Given the description of an element on the screen output the (x, y) to click on. 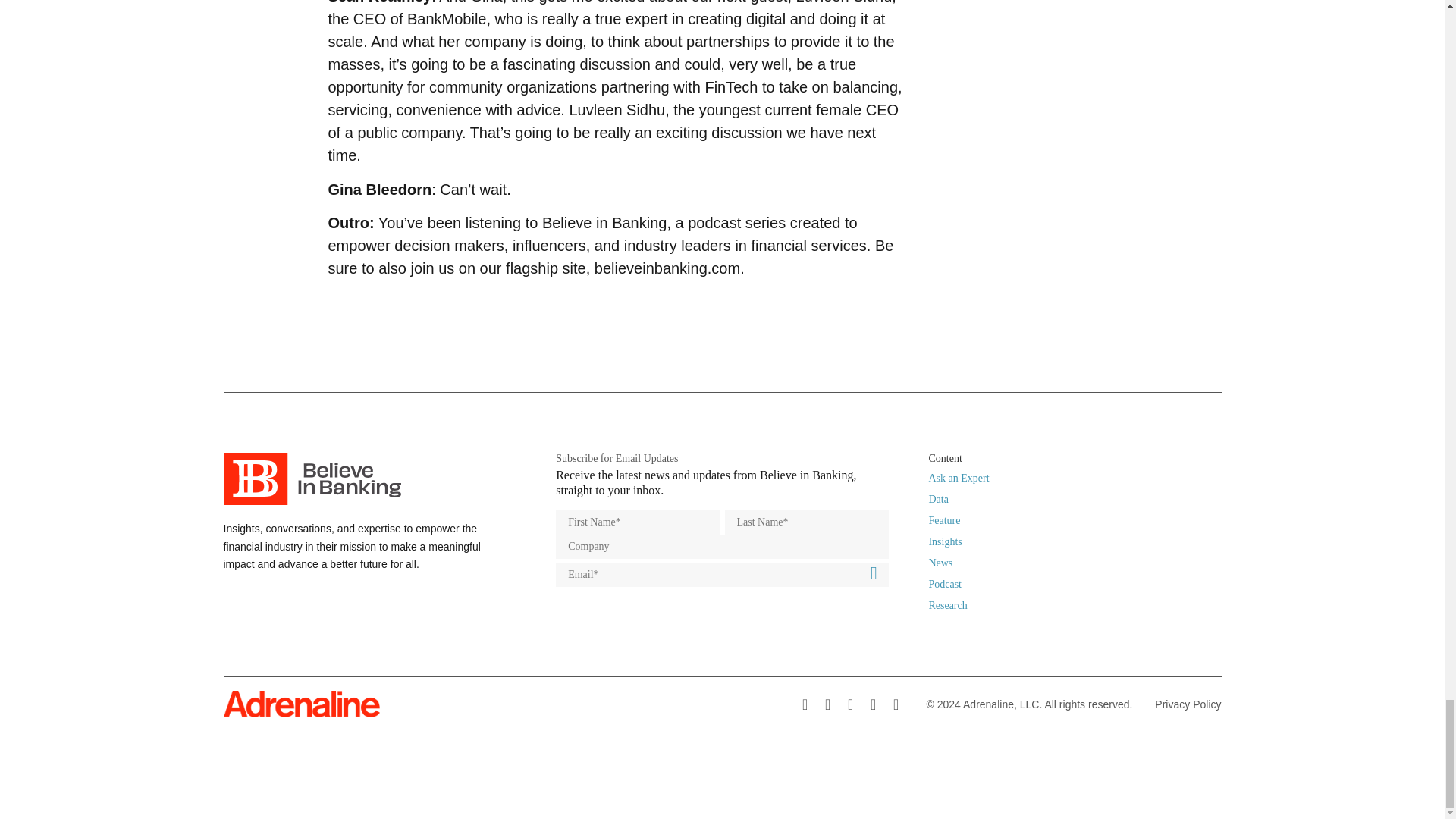
Podcast (944, 583)
News (940, 562)
Research (947, 604)
Feature (943, 520)
Insights (944, 541)
Ask an Expert (958, 478)
Data (937, 499)
